Given the description of an element on the screen output the (x, y) to click on. 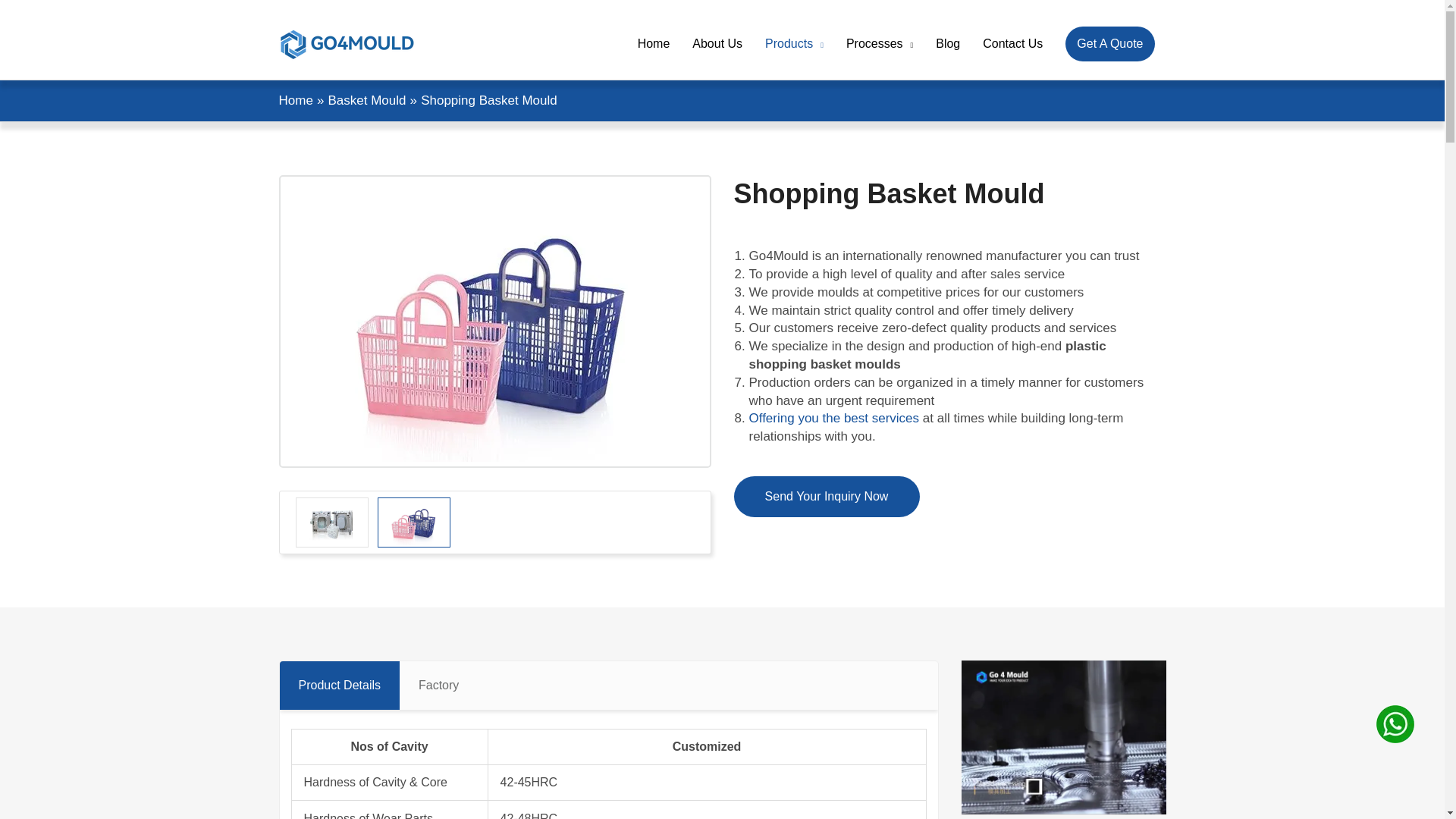
About Us (717, 43)
Products (794, 43)
